Given the description of an element on the screen output the (x, y) to click on. 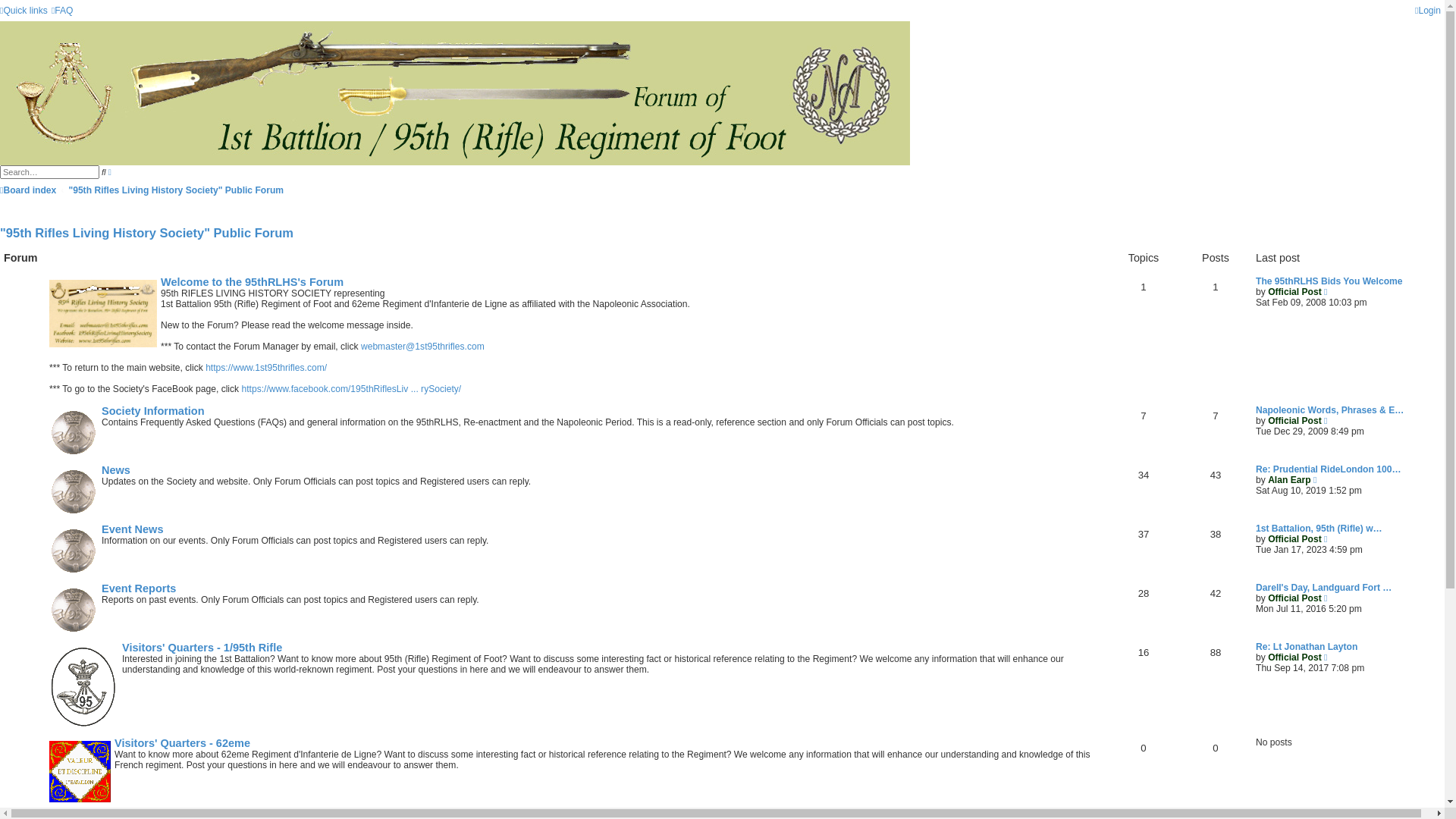
Quick links Element type: text (23, 10)
https://www.1st95thrifles.com/ Element type: text (265, 367)
View the latest post Element type: text (1325, 657)
View the latest post Element type: text (1314, 479)
Official Post Element type: text (1294, 657)
Advanced search Element type: text (109, 171)
Board index Element type: hover (722, 125)
Official Post Element type: text (1294, 538)
View the latest post Element type: text (1325, 291)
Search Element type: text (103, 171)
Visitors' Quarters - 62eme Element type: text (182, 743)
"95th Rifles Living History Society" Public Forum Element type: text (175, 190)
Official Post Element type: text (1294, 598)
Re: Lt Jonathan Layton Element type: text (1306, 646)
View the latest post Element type: text (1325, 538)
Alan Earp Element type: text (1288, 479)
Search for keywords Element type: hover (49, 171)
Event News Element type: text (132, 529)
Login Element type: text (1427, 10)
News Element type: text (115, 470)
Visitors' Quarters - 1/95th Rifle Element type: text (202, 647)
Welcome to the 95thRLHS's Forum Element type: text (251, 282)
View the latest post Element type: text (1325, 598)
The 95thRLHS Bids You Welcome Element type: text (1328, 281)
webmaster@1st95thrifles.com Element type: text (422, 346)
Official Post Element type: text (1294, 420)
"95th Rifles Living History Society" Public Forum Element type: text (146, 232)
View the latest post Element type: text (1325, 420)
FAQ Element type: text (62, 10)
https://www.facebook.com/195thRiflesLiv ... rySociety/ Element type: text (351, 389)
Event Reports Element type: text (138, 588)
Official Post Element type: text (1294, 291)
Society Information Element type: text (152, 410)
Board index Element type: text (28, 190)
